Given the description of an element on the screen output the (x, y) to click on. 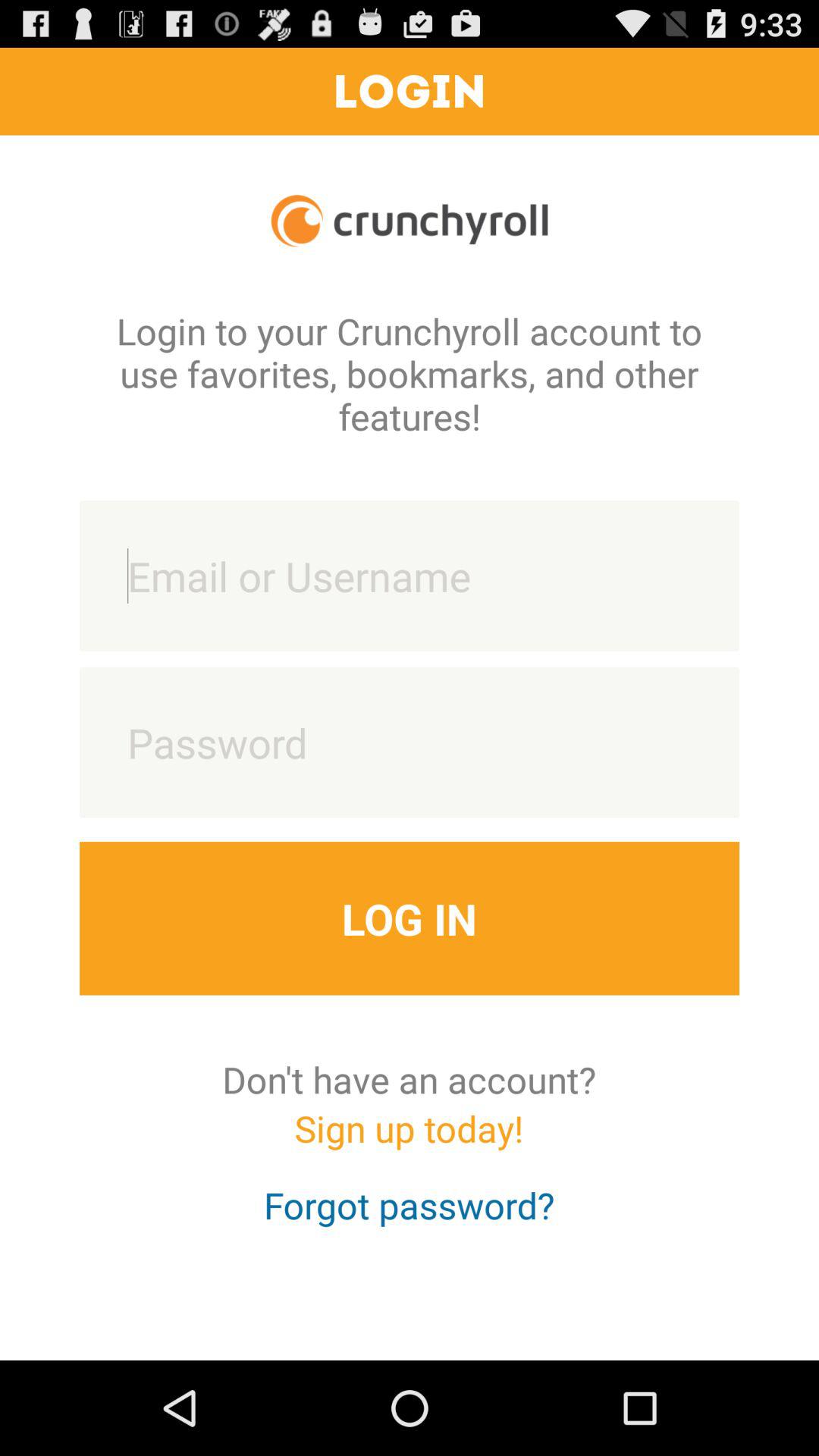
login to cruncyroll (409, 575)
